Given the description of an element on the screen output the (x, y) to click on. 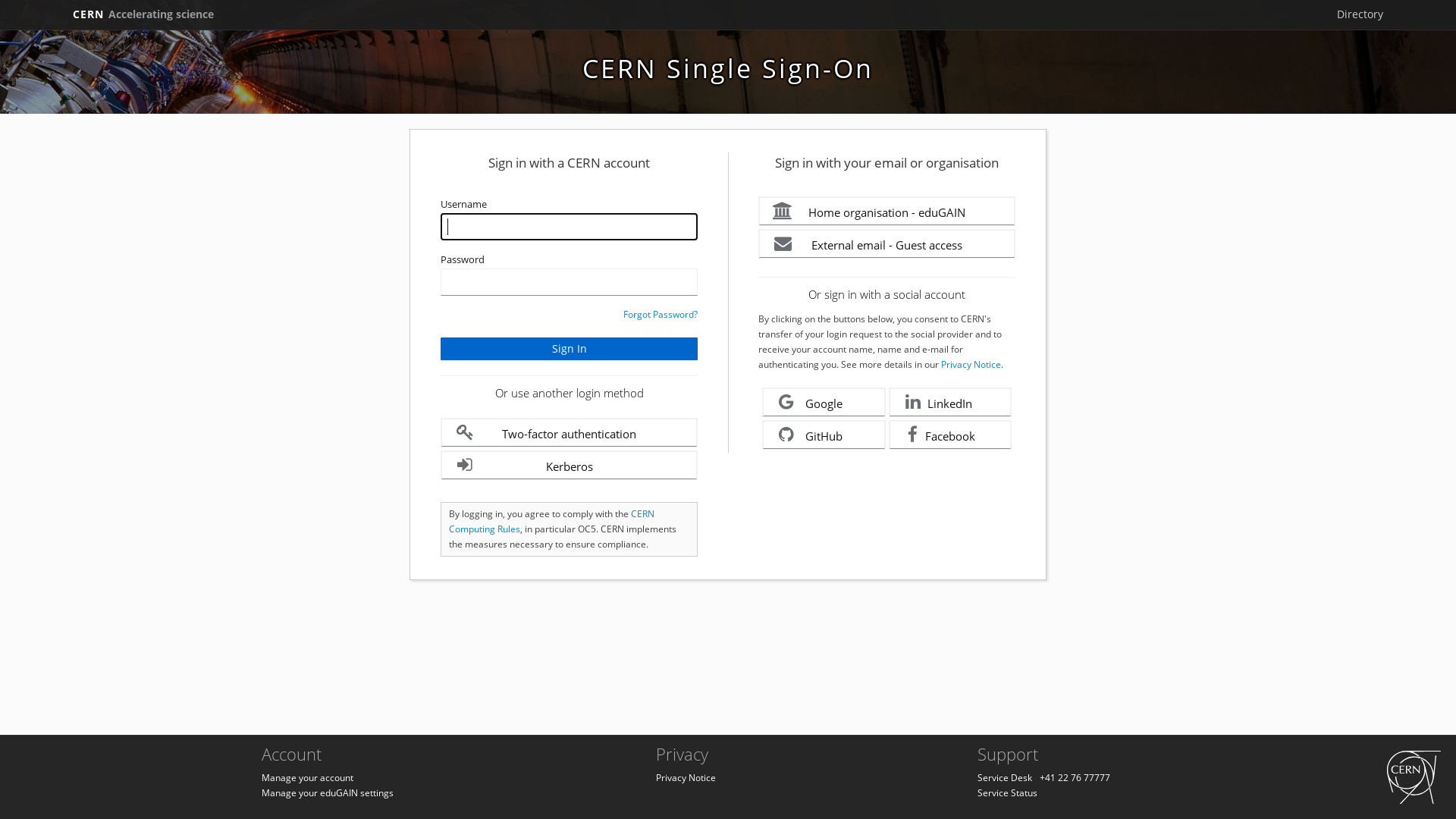
Home organisation - eduGAIN Element type: text (886, 210)
Manage your account Element type: text (307, 777)
Manage your eduGAIN settings Element type: text (327, 792)
CERN Accelerating science Element type: text (142, 14)
LinkedIn Element type: text (950, 402)
External email - Guest access Element type: text (886, 243)
Service Desk Element type: text (1004, 777)
Forgot Password? Element type: text (660, 313)
Kerberos Element type: text (568, 465)
Two-factor authentication Element type: text (568, 432)
Google Element type: text (823, 402)
Facebook Element type: text (950, 434)
CERN Computing Rules Element type: text (551, 521)
GitHub Element type: text (823, 434)
Sign In Element type: text (568, 348)
+41 22 76 77777 Element type: text (1074, 777)
Service Status Element type: text (1007, 792)
Privacy Notice Element type: text (971, 363)
Privacy Notice Element type: text (685, 777)
Directory Element type: text (1359, 14)
